Given the description of an element on the screen output the (x, y) to click on. 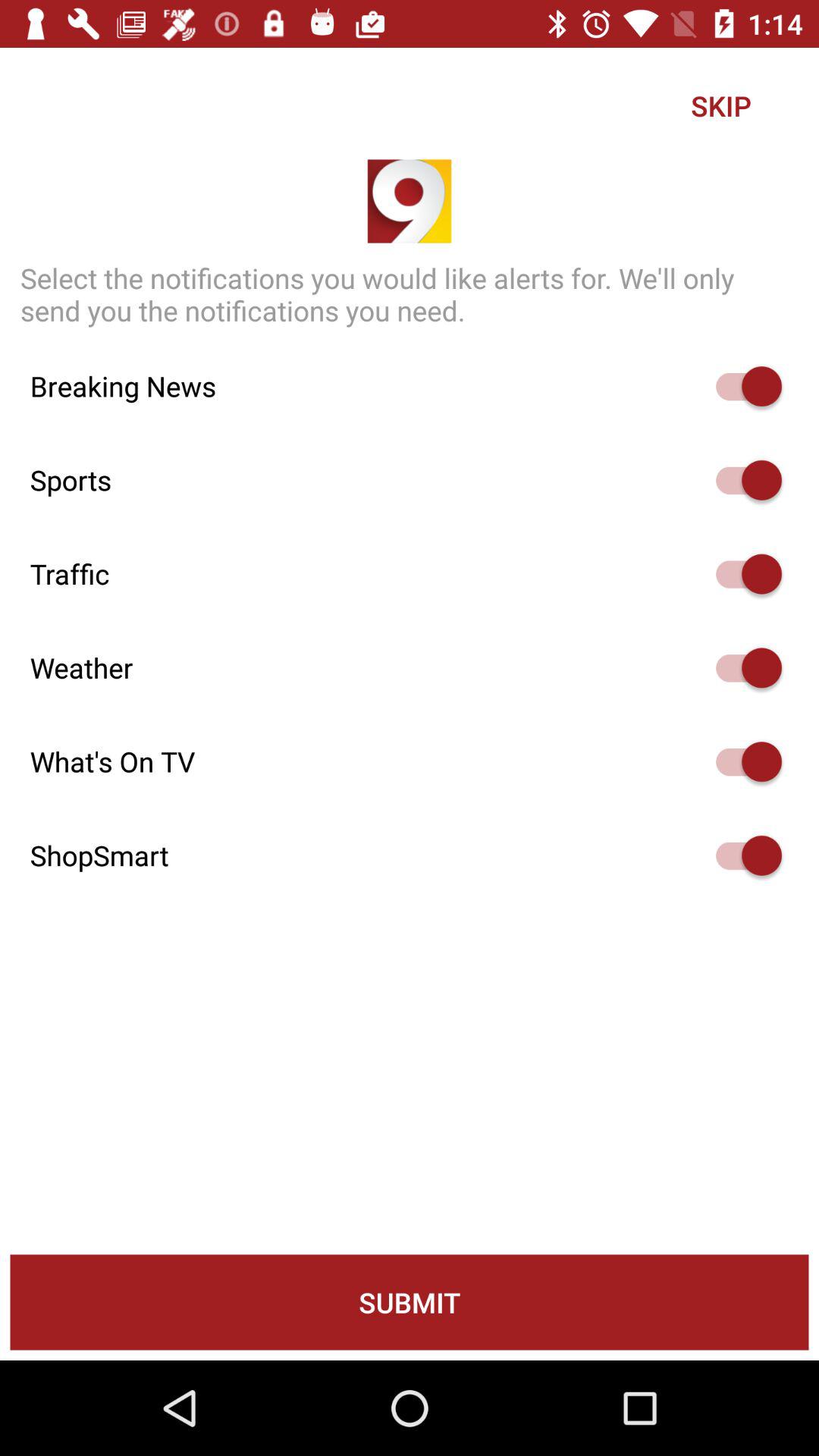
auto play (741, 480)
